Given the description of an element on the screen output the (x, y) to click on. 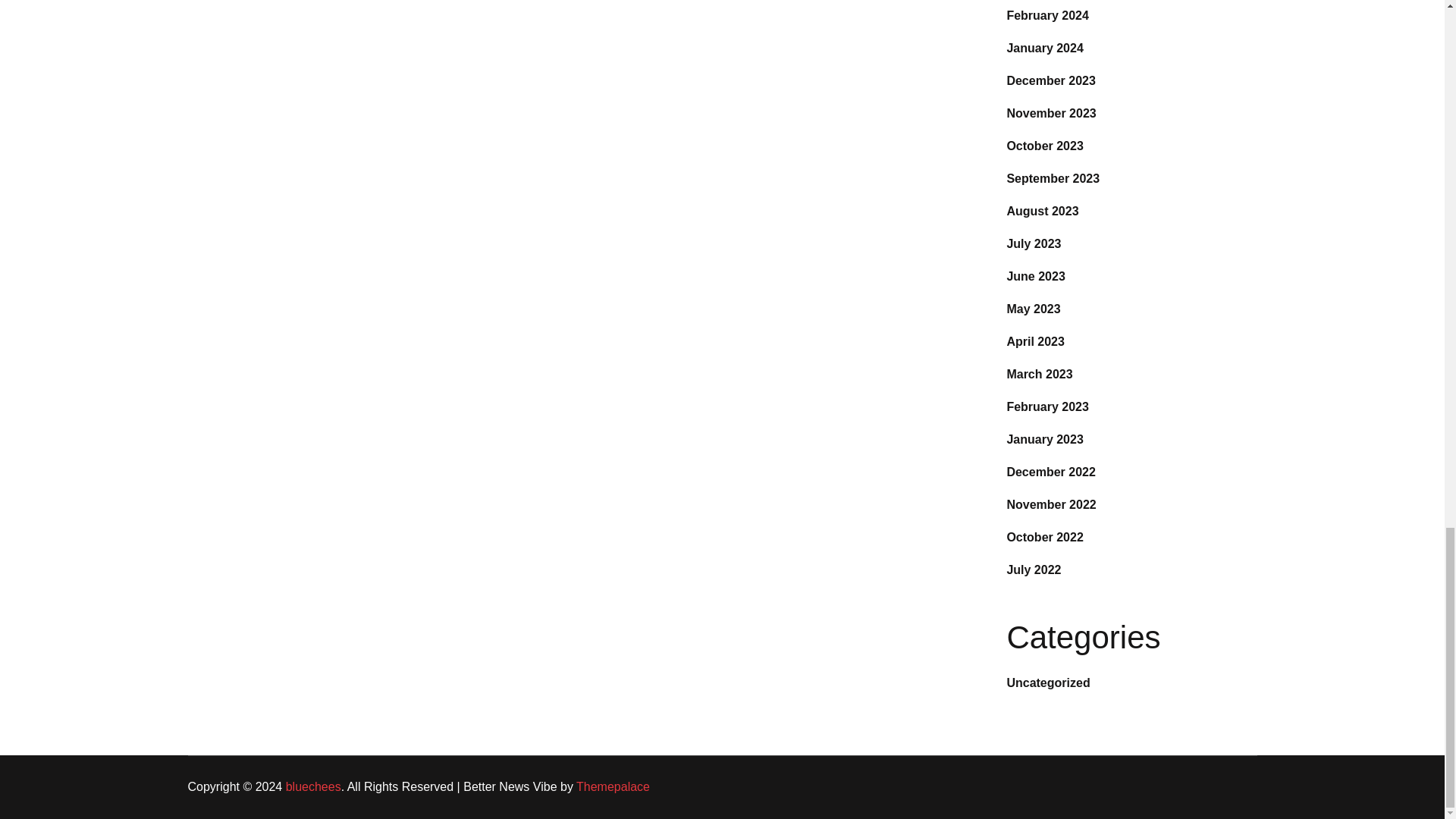
December 2023 (1050, 80)
August 2023 (1042, 210)
April 2023 (1035, 341)
July 2023 (1033, 243)
February 2023 (1047, 406)
October 2023 (1044, 145)
January 2023 (1044, 439)
May 2023 (1032, 308)
September 2023 (1052, 178)
June 2023 (1035, 276)
